Given the description of an element on the screen output the (x, y) to click on. 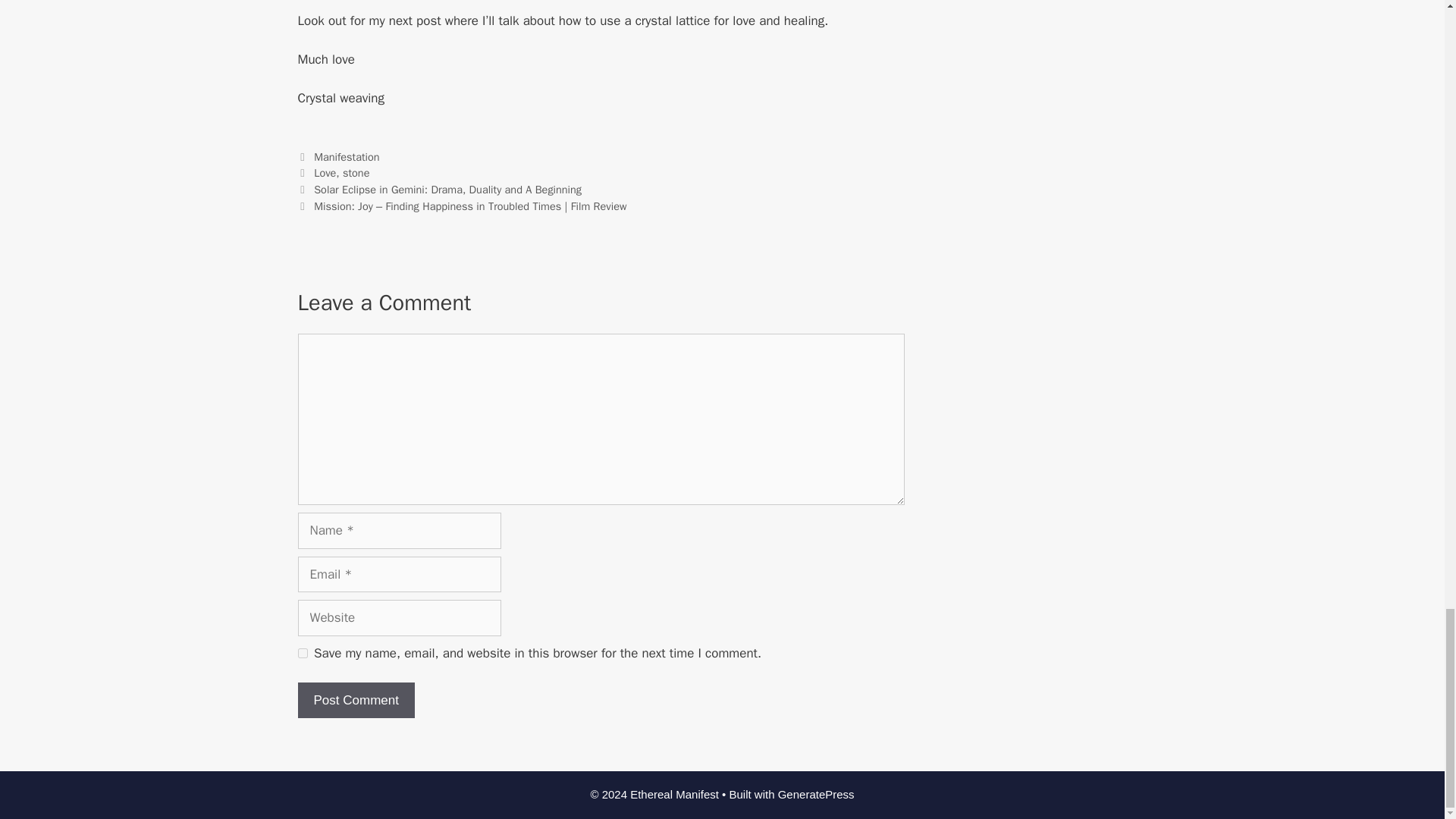
Love (325, 172)
Post Comment (355, 700)
stone (355, 172)
Solar Eclipse in Gemini: Drama, Duality and A Beginning (447, 189)
Previous (438, 189)
Next (461, 205)
yes (302, 653)
Manifestation (346, 156)
Post Comment (355, 700)
